Given the description of an element on the screen output the (x, y) to click on. 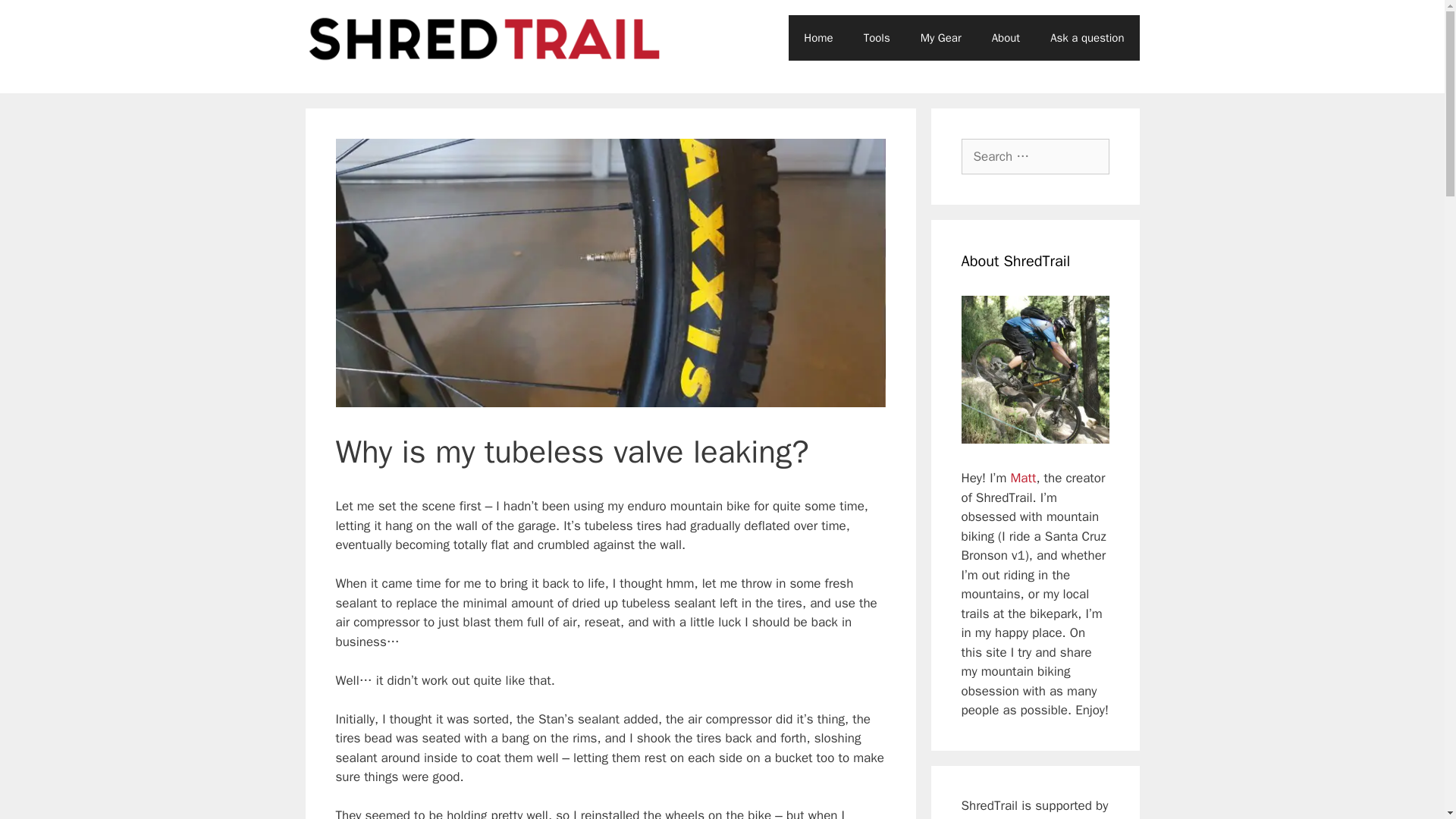
Search for: (1034, 156)
My Gear (940, 37)
Ask a question (1086, 37)
Search (35, 18)
About (1005, 37)
Matt (1022, 478)
Tools (876, 37)
Home (818, 37)
